Given the description of an element on the screen output the (x, y) to click on. 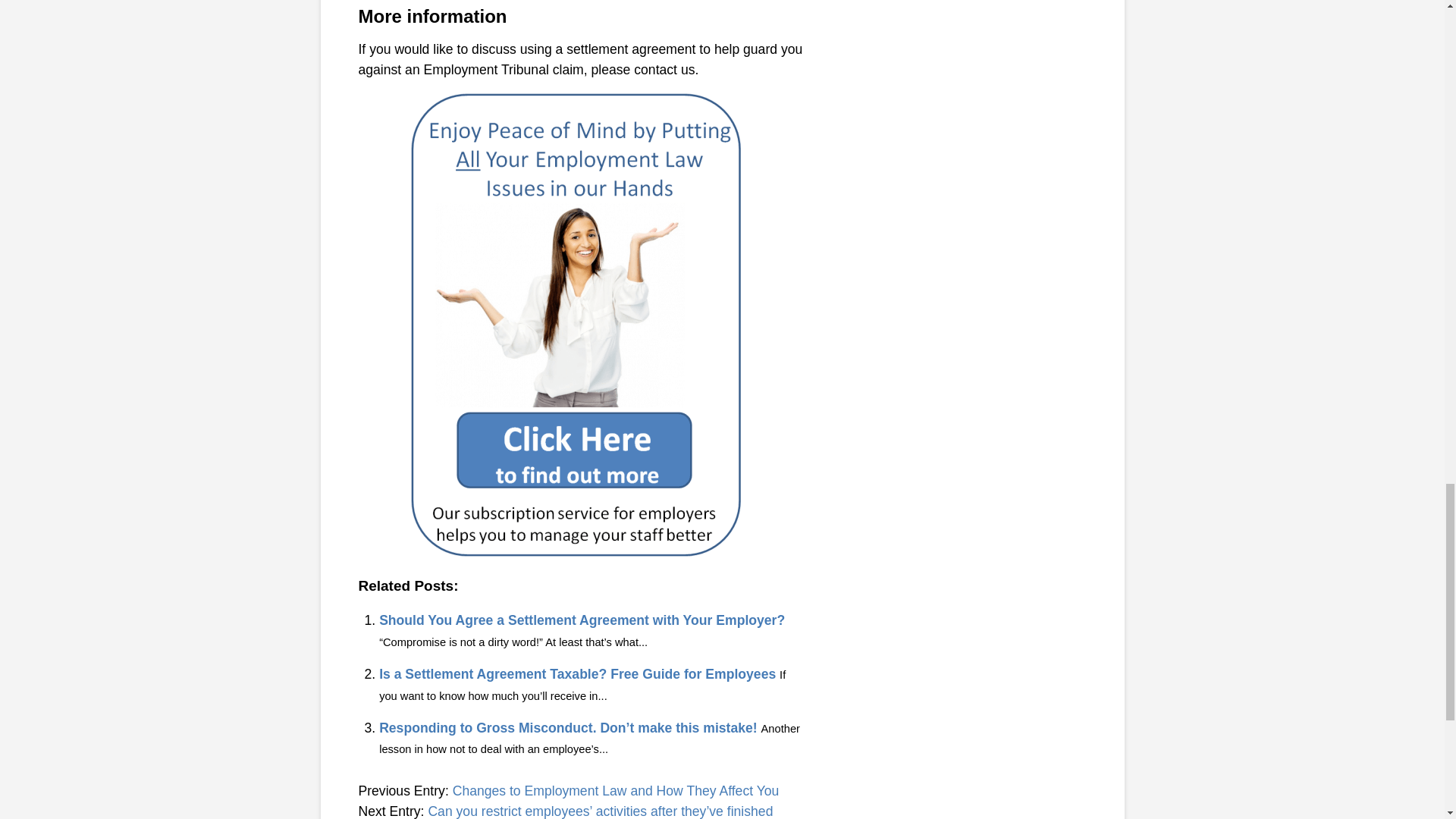
Is a Settlement Agreement Taxable? Free Guide for Employees (577, 673)
Should You Agree a Settlement Agreement with Your Employer? (581, 620)
Should You Agree a Settlement Agreement with Your Employer? (581, 620)
Is a Settlement Agreement Taxable? Free Guide for Employees (577, 673)
Changes to Employment Law and How They Affect You (615, 790)
